Given the description of an element on the screen output the (x, y) to click on. 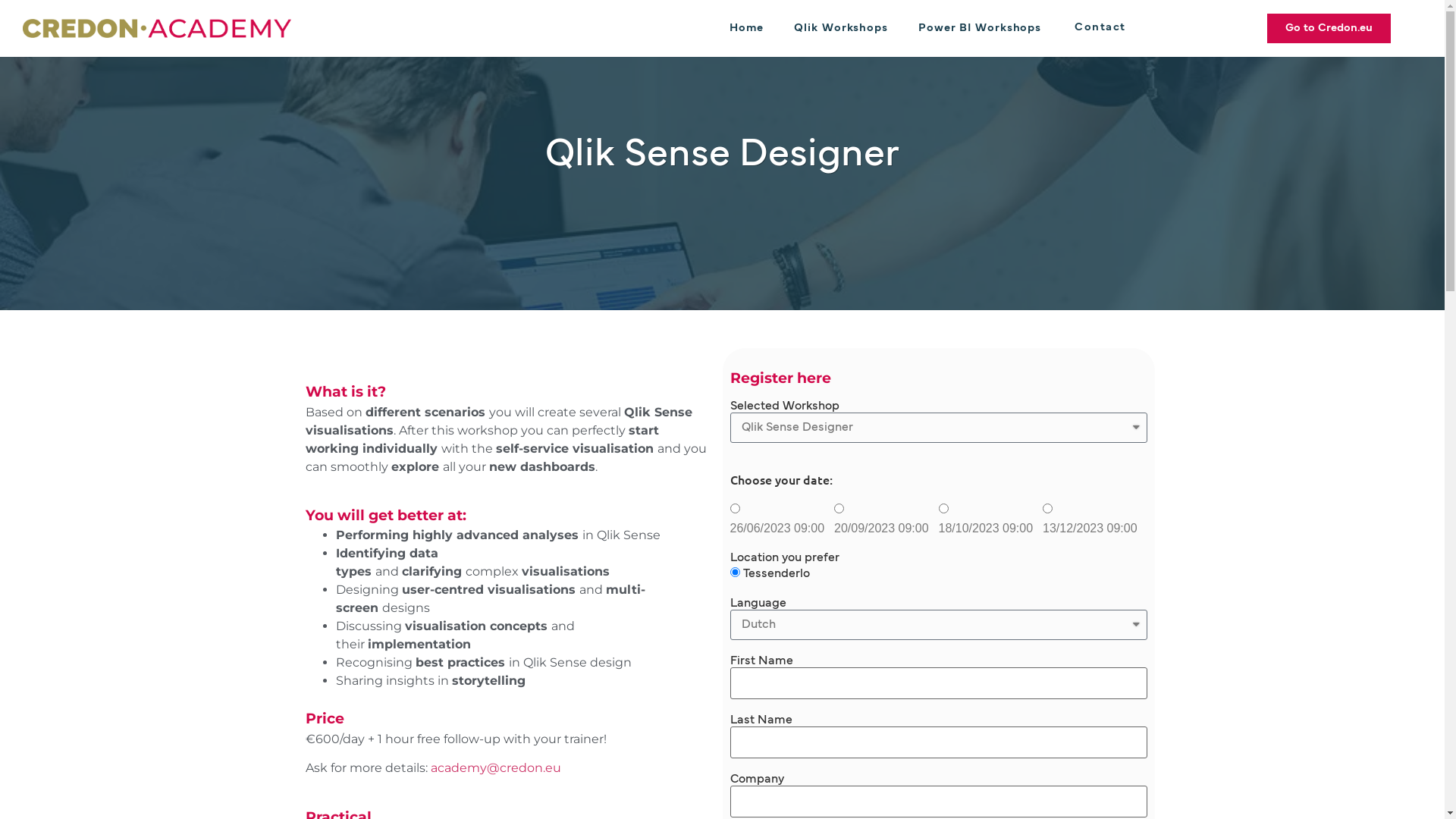
academy@credon.eu Element type: text (495, 767)
Contact Element type: text (1100, 28)
Qlik Workshops Element type: text (840, 27)
Go to Credon.eu Element type: text (1328, 28)
Power BI Workshops Element type: text (979, 27)
Home Element type: text (746, 27)
